Given the description of an element on the screen output the (x, y) to click on. 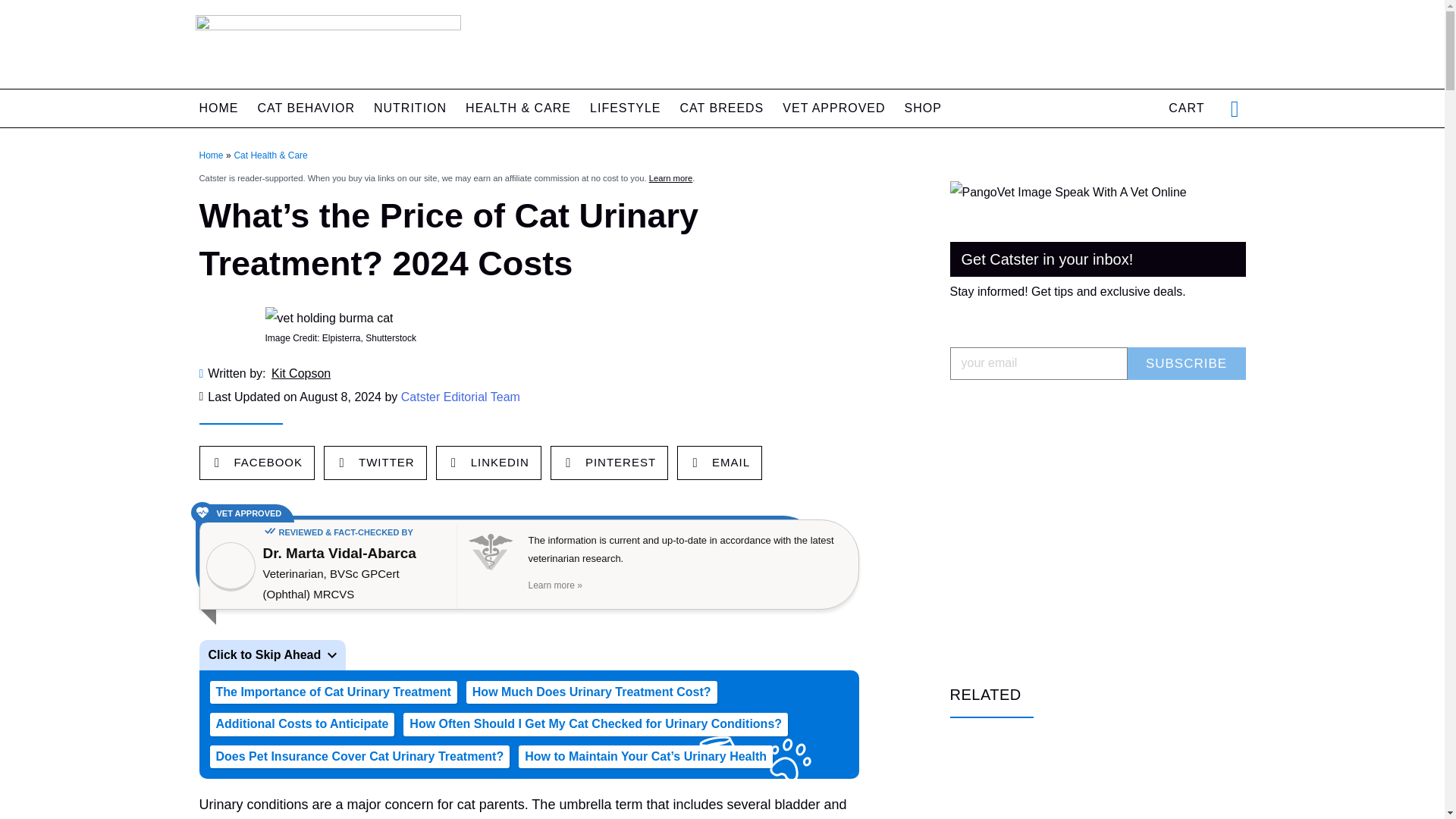
HOME (218, 108)
Home (210, 154)
LIFESTYLE (625, 108)
VET APPROVED (834, 108)
CART (1186, 108)
Vet photo (231, 566)
Learn more (671, 177)
CAT BREEDS (721, 108)
SHOP (923, 108)
CAT BEHAVIOR (306, 108)
